Given the description of an element on the screen output the (x, y) to click on. 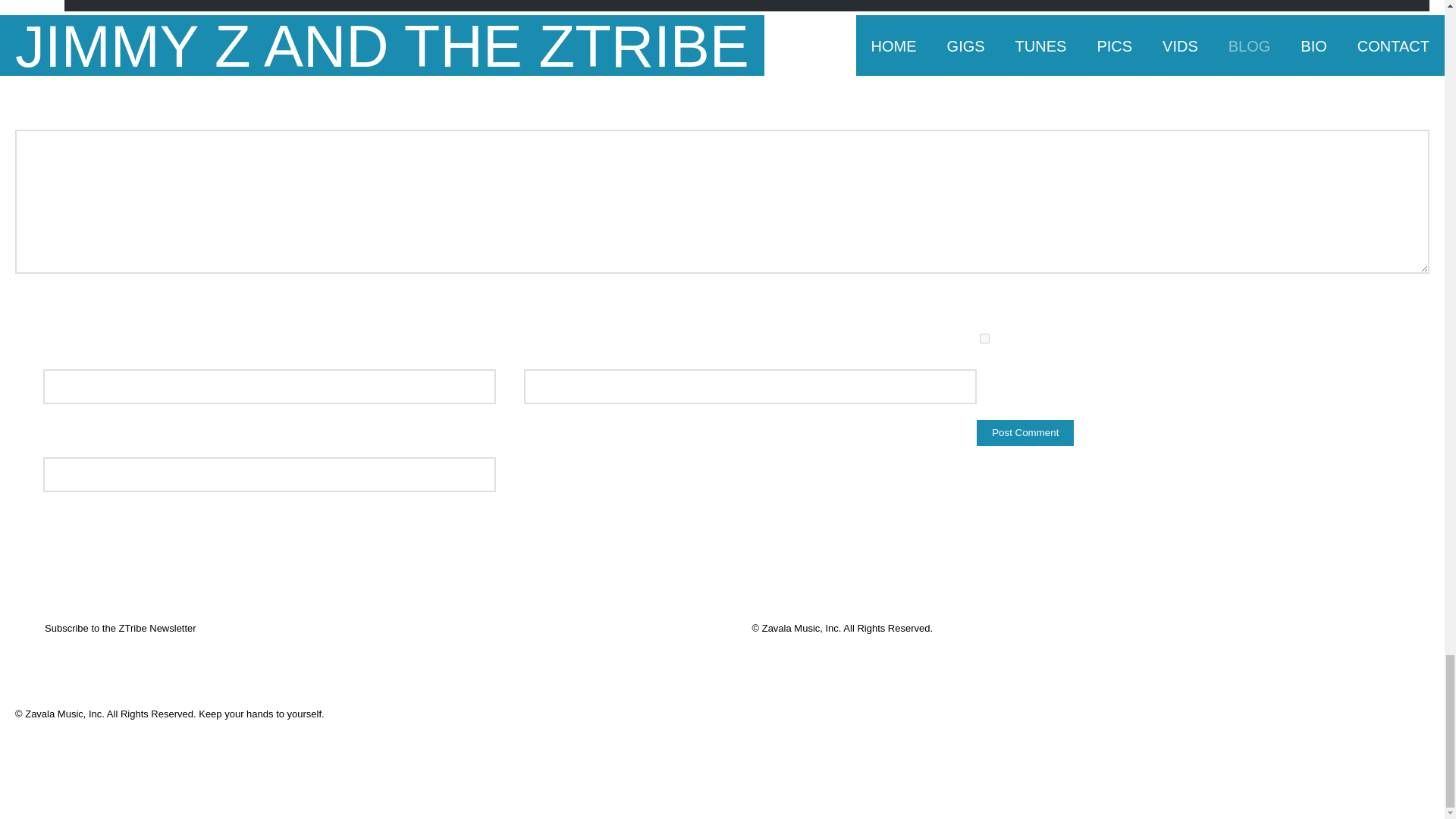
Subscribe to the ZTribe Newsletter (120, 627)
HyperText Markup Language (114, 304)
Facebook (1341, 716)
Post Comment (1025, 432)
YouTube (1368, 716)
yes (984, 338)
